Given the description of an element on the screen output the (x, y) to click on. 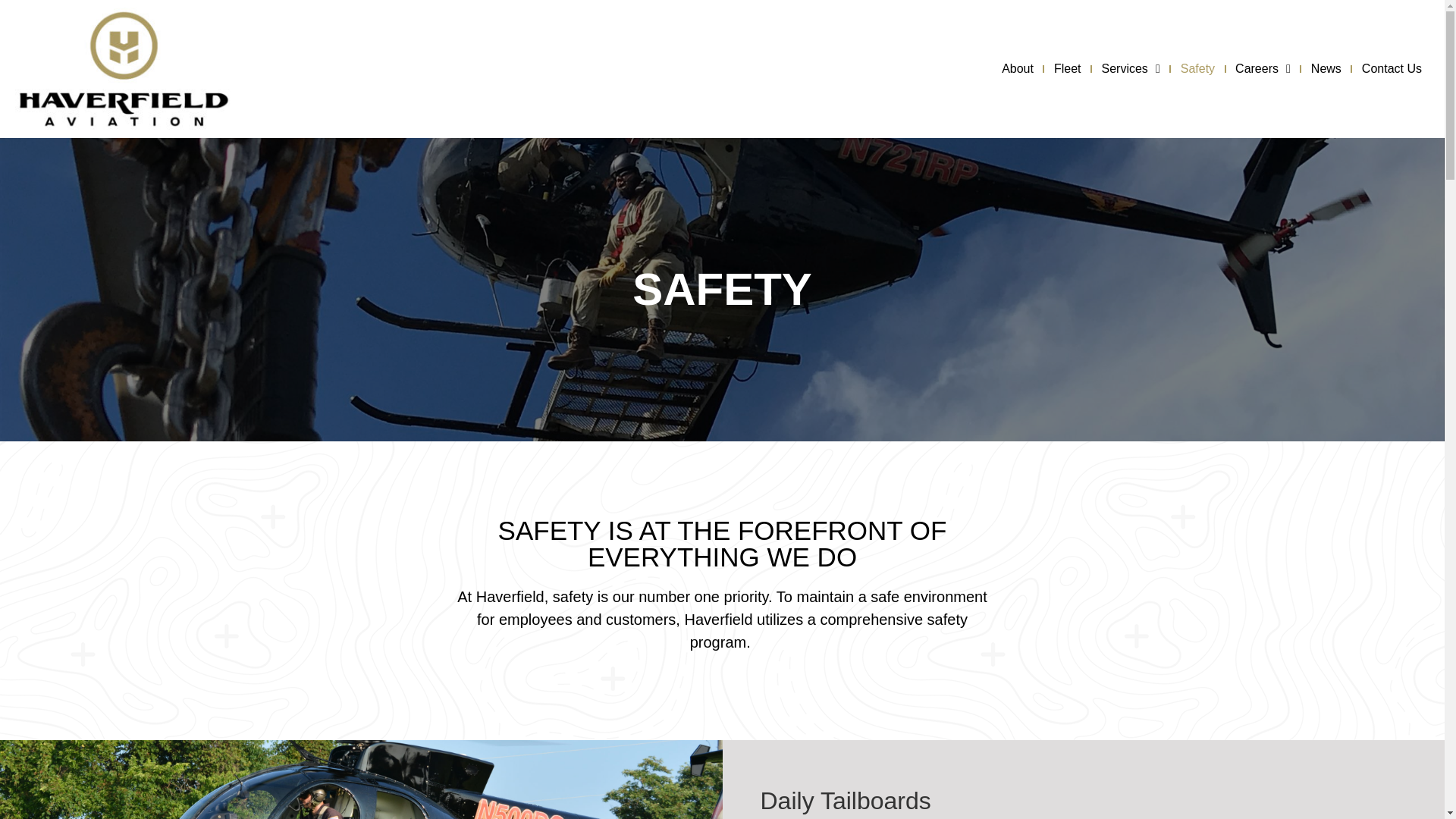
Services (1130, 68)
Contact Us (1391, 68)
News (1326, 68)
Safety (1198, 68)
Fleet (1067, 68)
Careers (1262, 68)
About (1017, 68)
